Given the description of an element on the screen output the (x, y) to click on. 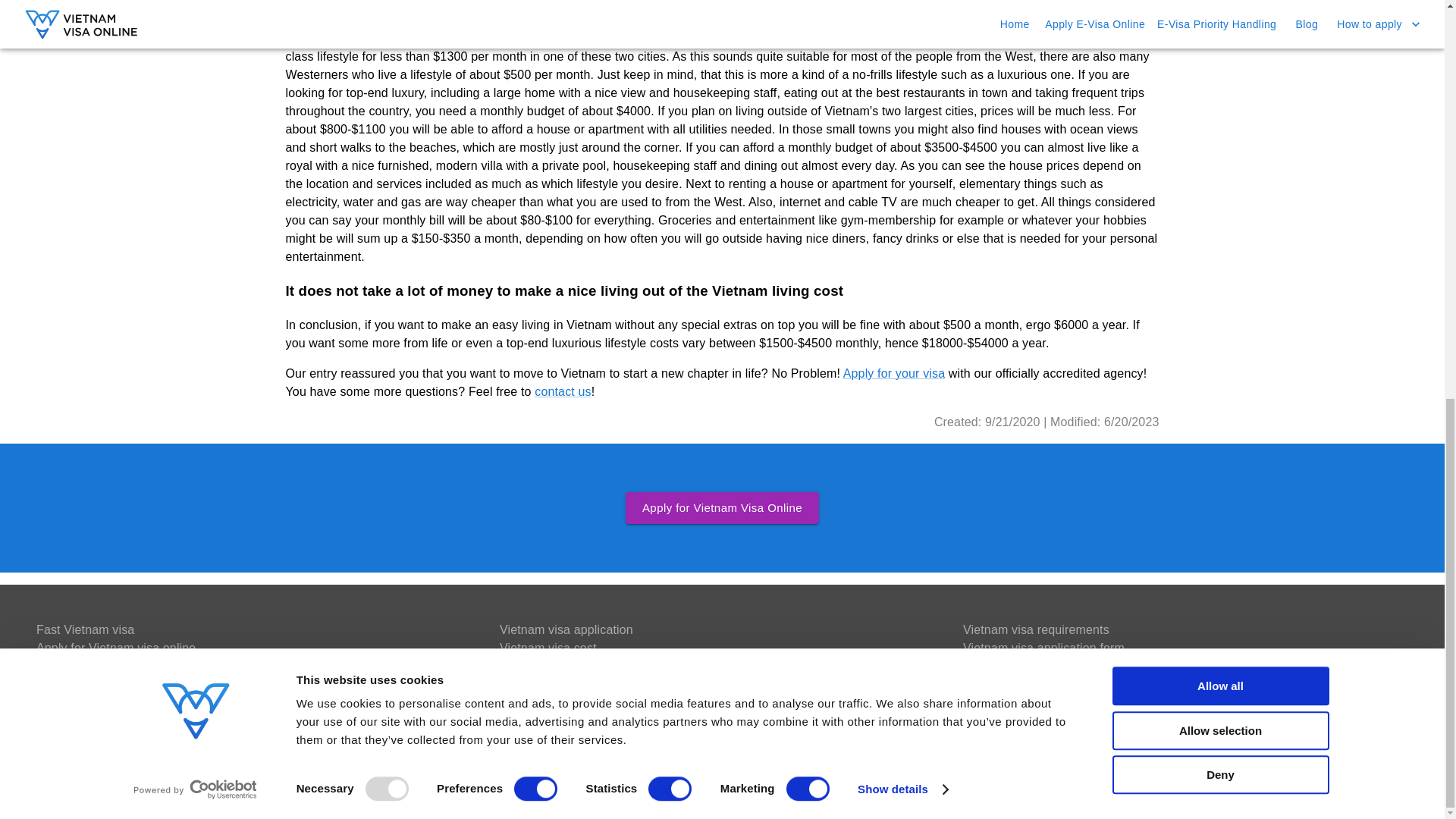
Show details (902, 13)
Apply for your visa (893, 373)
Deny (1219, 9)
